Given the description of an element on the screen output the (x, y) to click on. 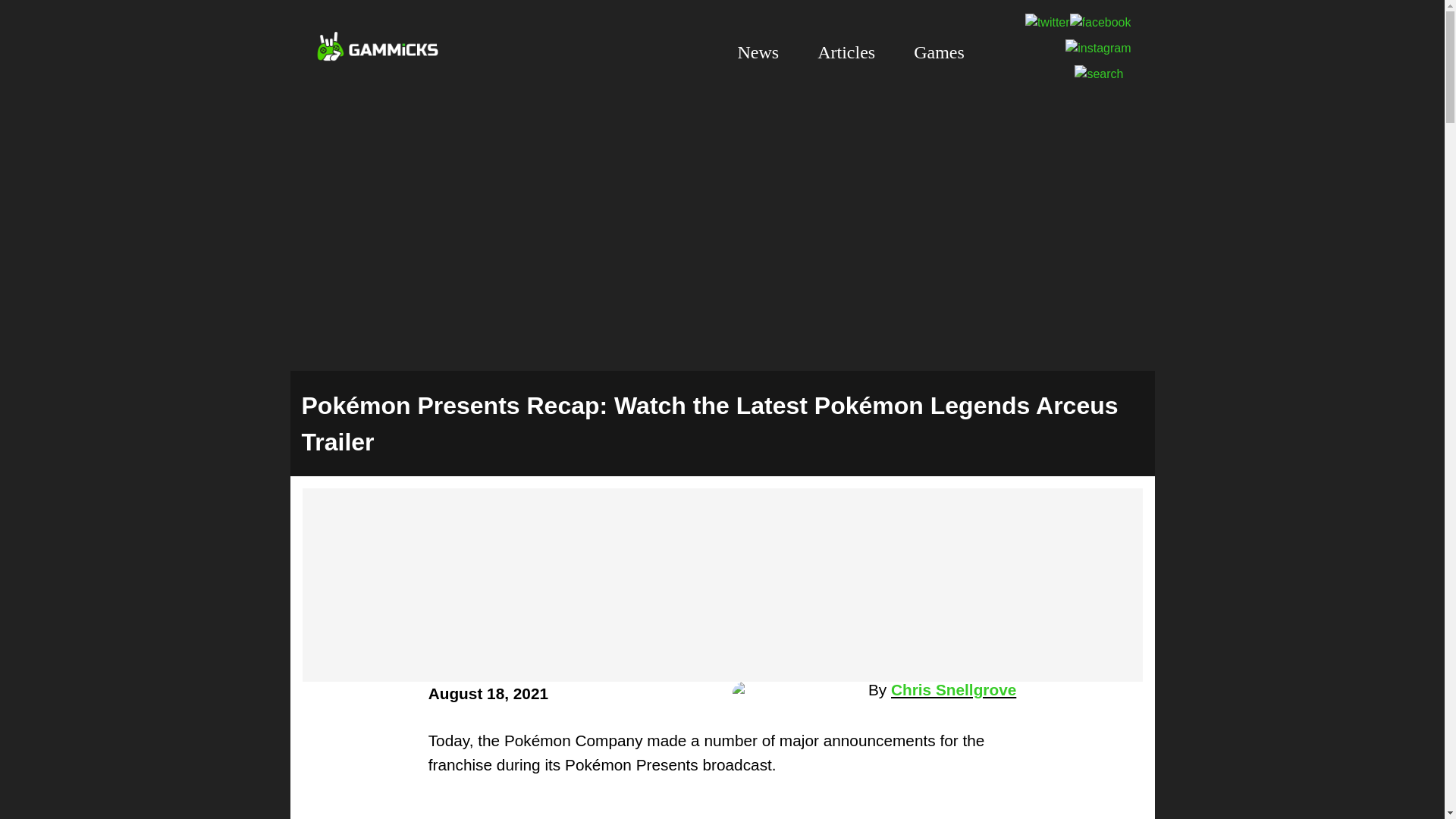
Articles (855, 52)
Chris Snellgrove (796, 693)
Games (948, 52)
Instagram (1098, 47)
News (768, 52)
Facebook (1100, 21)
Chris Snellgrove (953, 689)
Twitter (1047, 21)
